Given the description of an element on the screen output the (x, y) to click on. 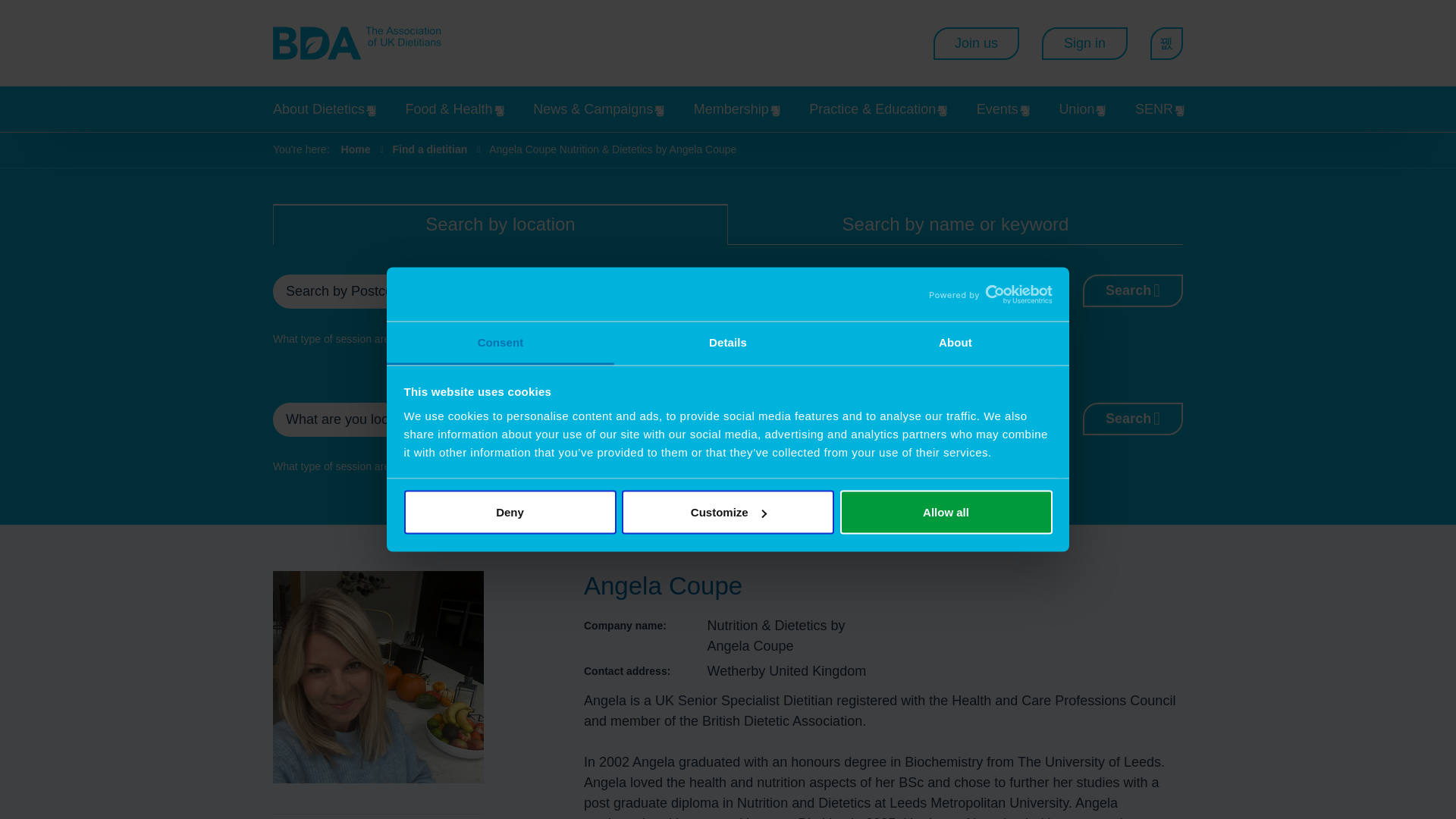
About (954, 342)
Consent (500, 342)
Details (727, 342)
Customize (727, 512)
Deny (509, 512)
Allow all (946, 512)
Skip to content (314, 103)
